Given the description of an element on the screen output the (x, y) to click on. 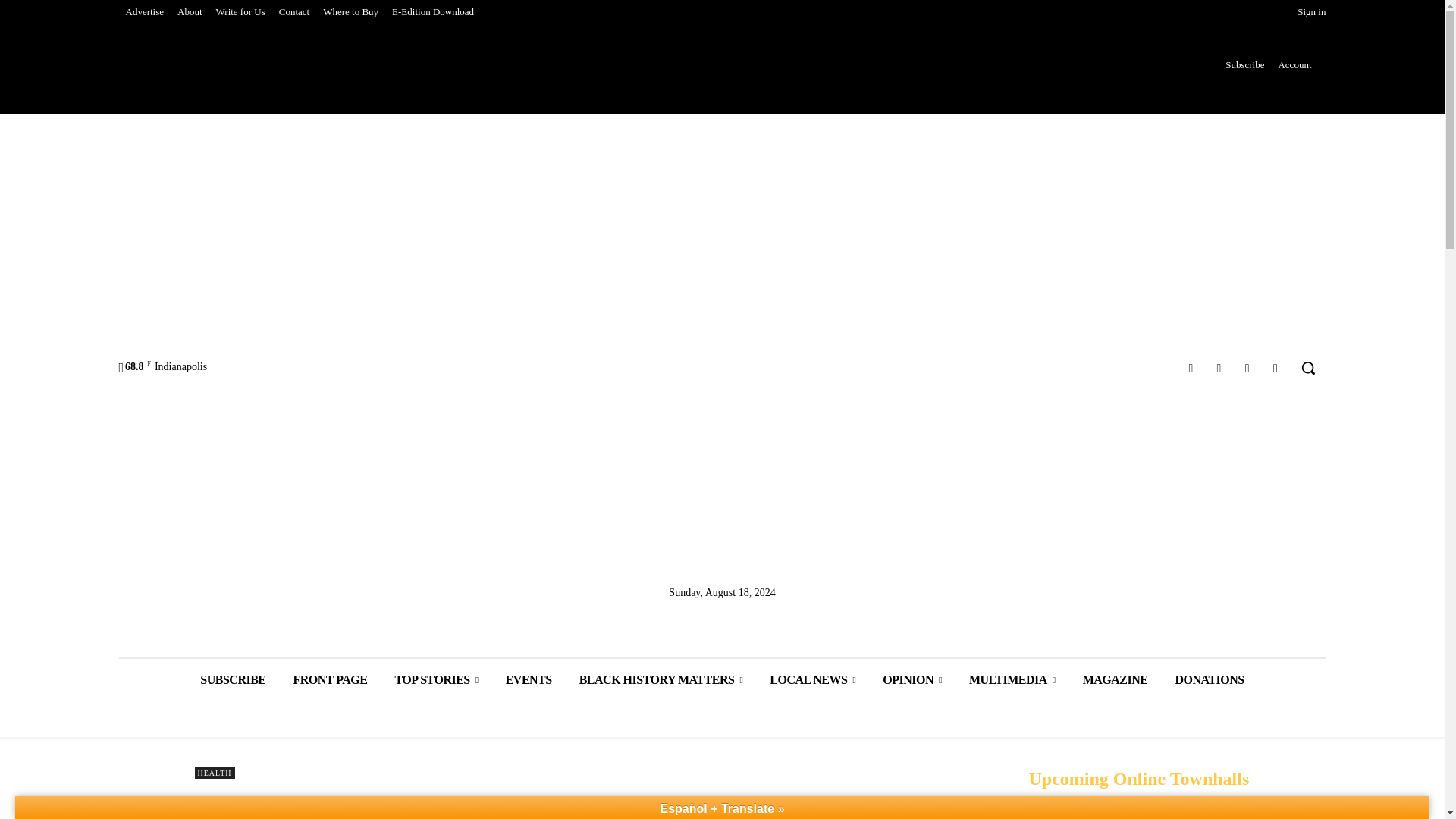
Instagram (1218, 367)
Advertise (143, 12)
Twitter (1246, 367)
Facebook (1190, 367)
Youtube (1275, 367)
